Given the description of an element on the screen output the (x, y) to click on. 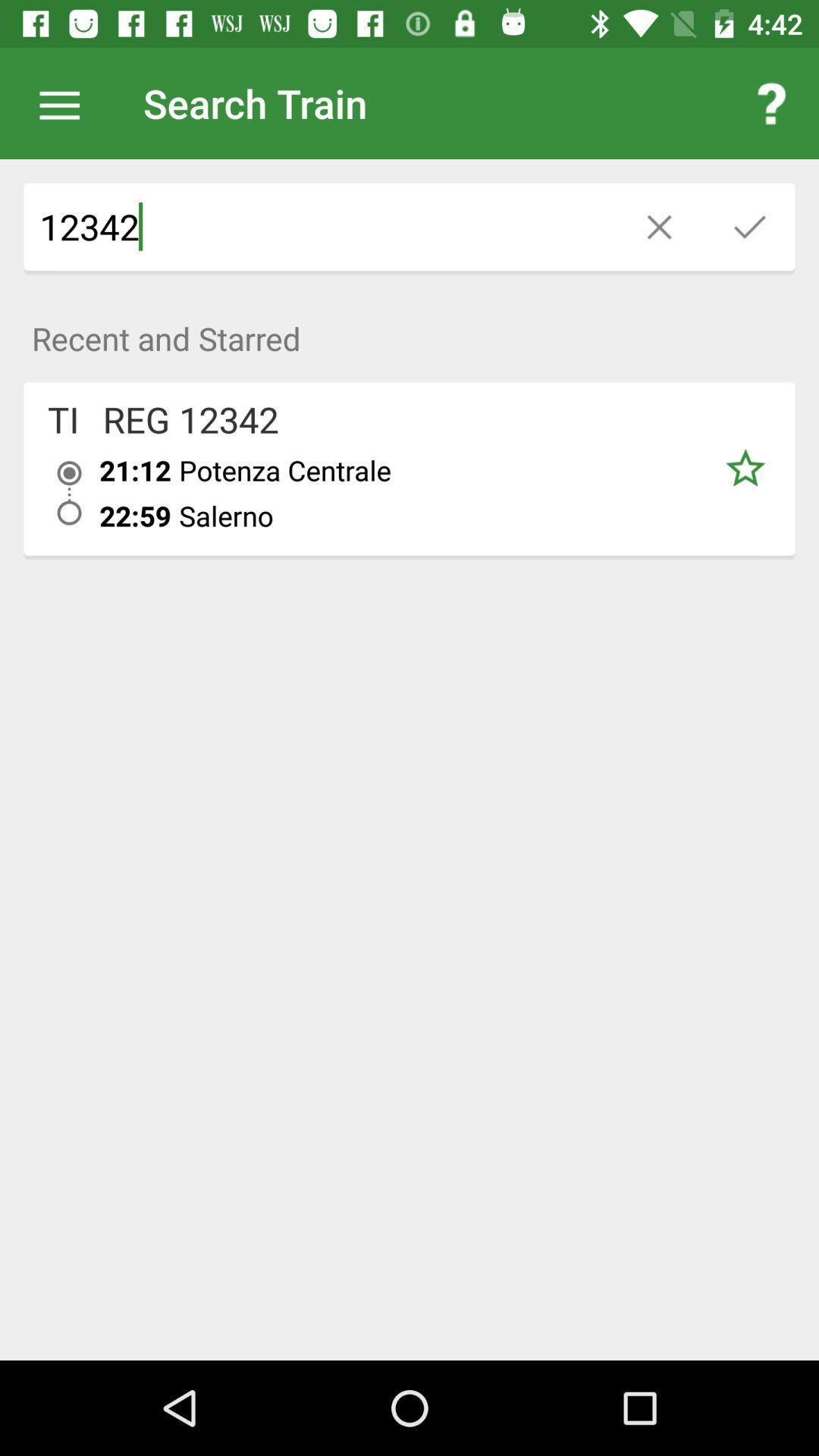
click item next to the 21:12 icon (69, 492)
